Given the description of an element on the screen output the (x, y) to click on. 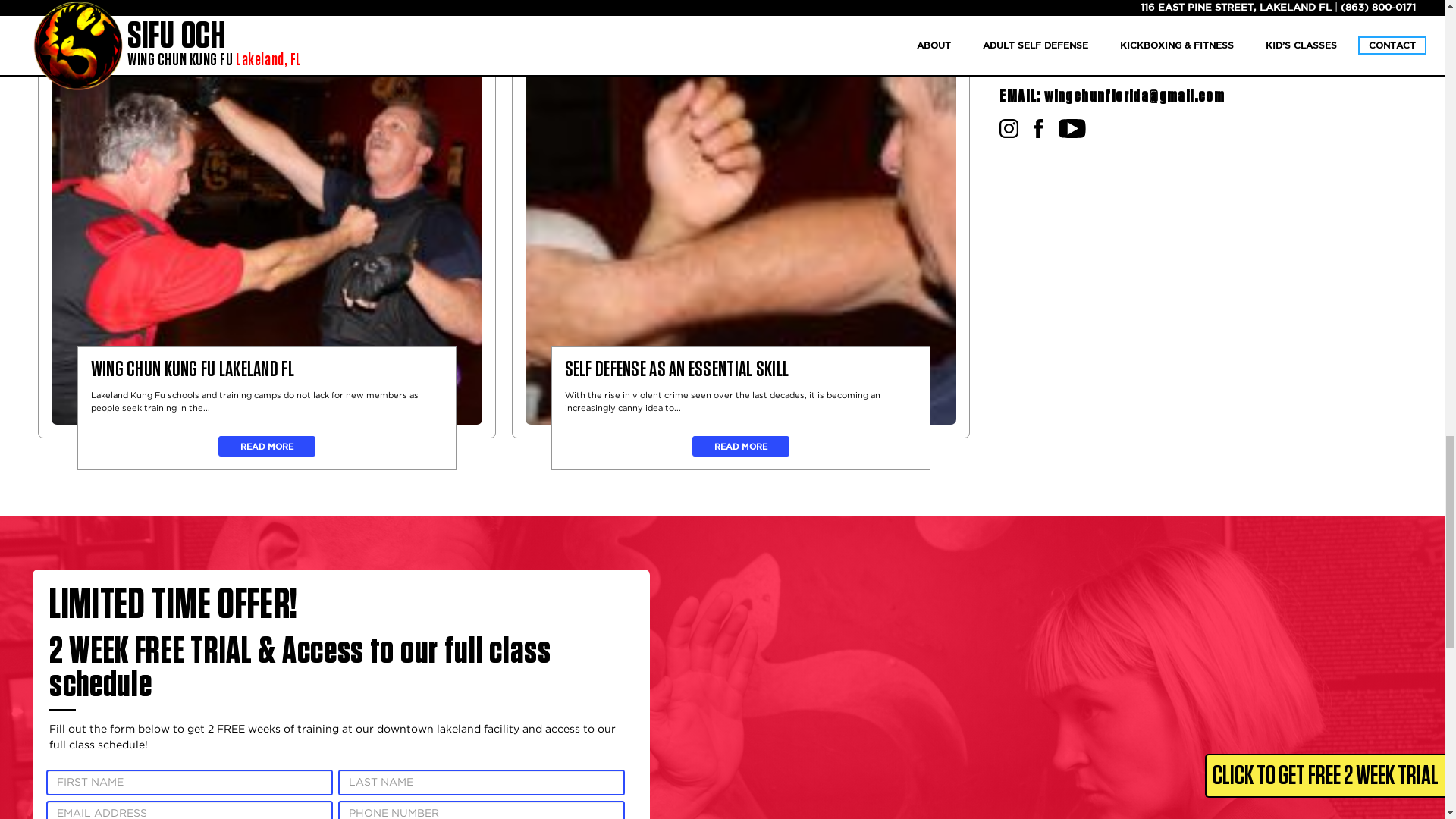
READ MORE (741, 445)
READ MORE (266, 445)
YouTube (1071, 130)
Facebook (1037, 130)
Instagram (1008, 130)
